Given the description of an element on the screen output the (x, y) to click on. 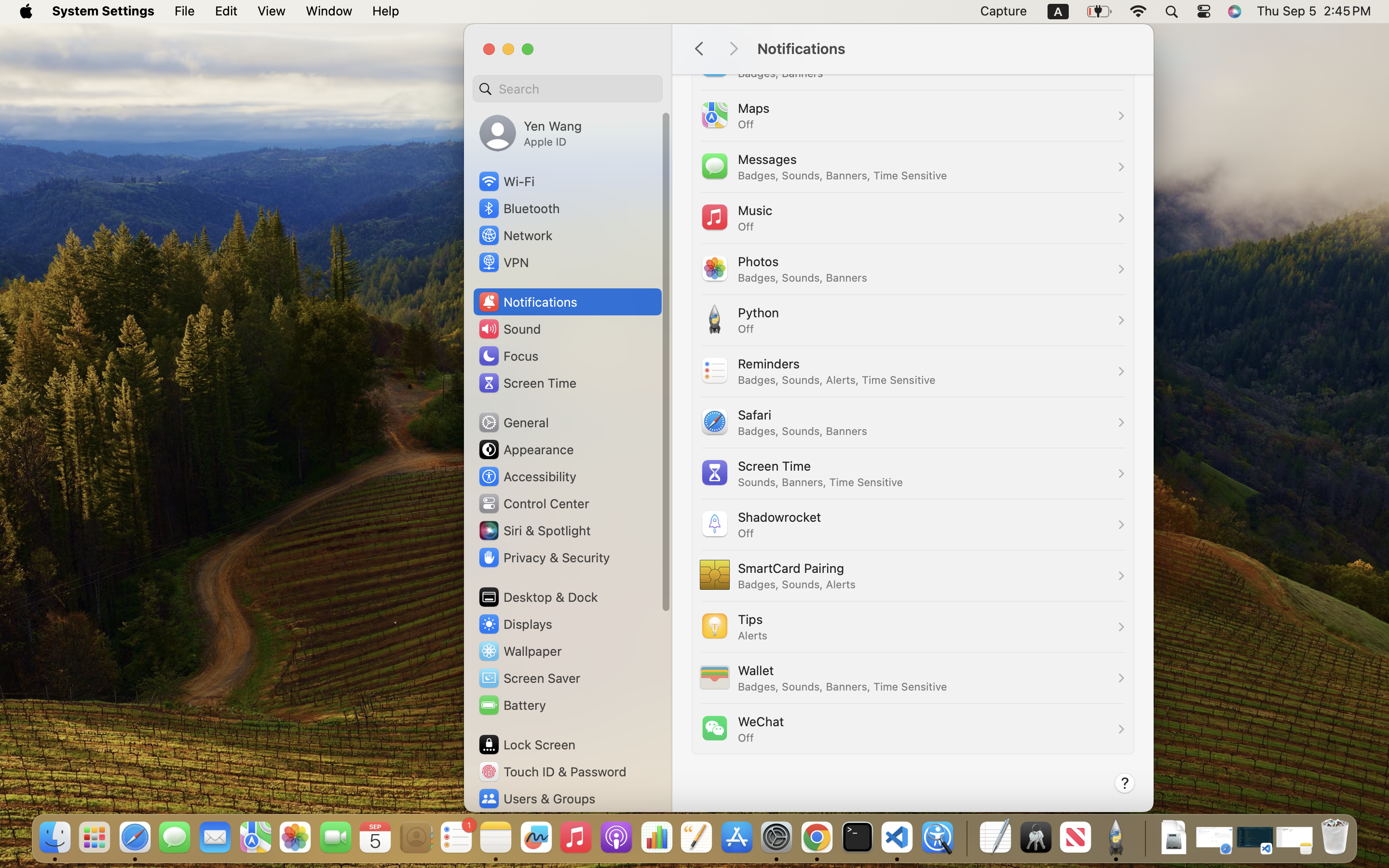
Yen Wang, Apple ID Element type: AXStaticText (530, 132)
Bluetooth Element type: AXStaticText (518, 207)
Notifications Element type: AXStaticText (945, 49)
Network Element type: AXStaticText (514, 234)
Desktop & Dock Element type: AXStaticText (537, 596)
